Given the description of an element on the screen output the (x, y) to click on. 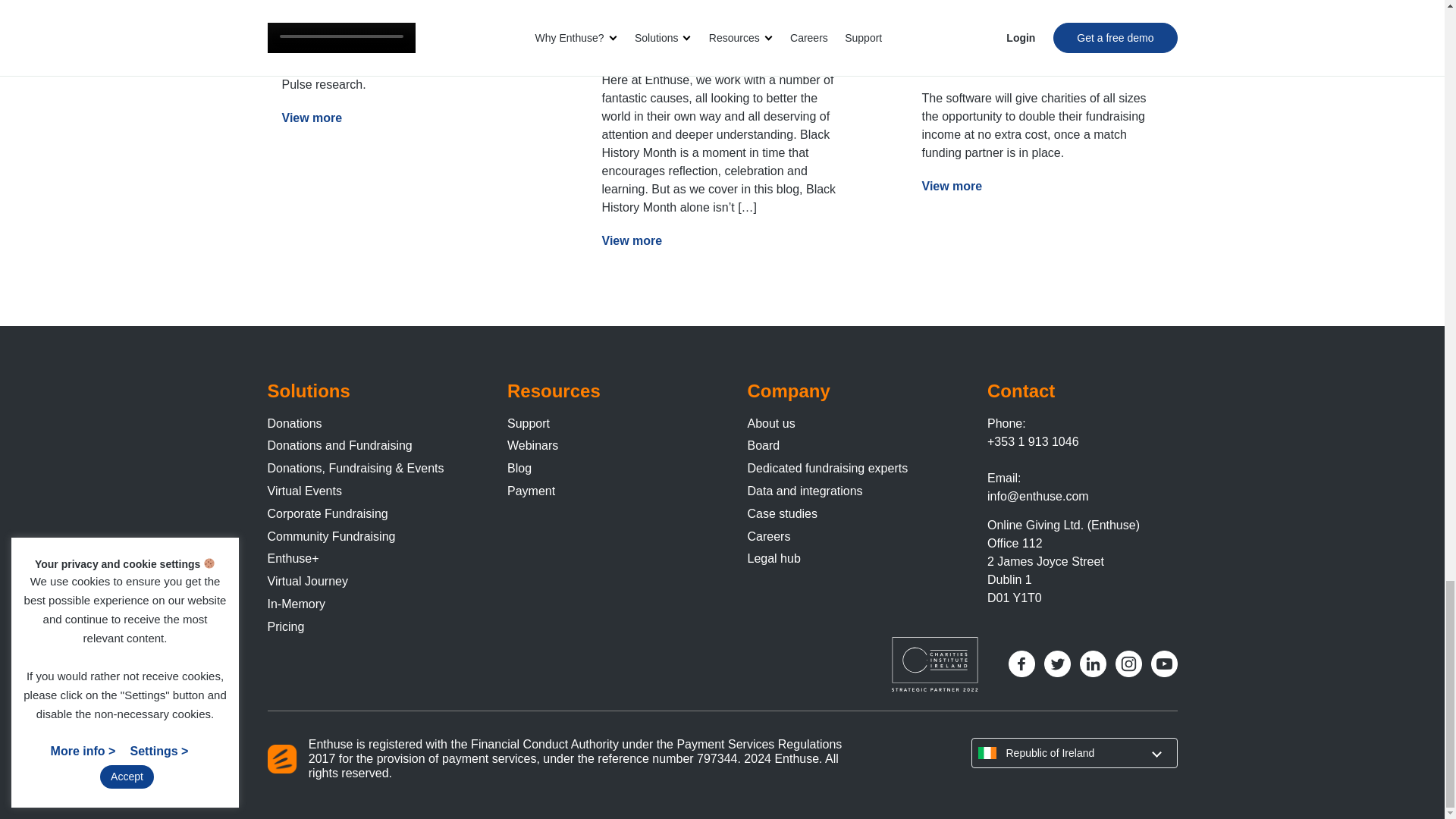
Enthuse Logo Thumbnail (281, 758)
Enthuse Youtube (1164, 663)
Digital fundraising (378, 20)
twitter-enthuse (1056, 663)
Enthuse Facebook (1022, 663)
View more (312, 117)
Enthuse Instagram (1128, 663)
Enthuse LinkedIn (1093, 663)
